Given the description of an element on the screen output the (x, y) to click on. 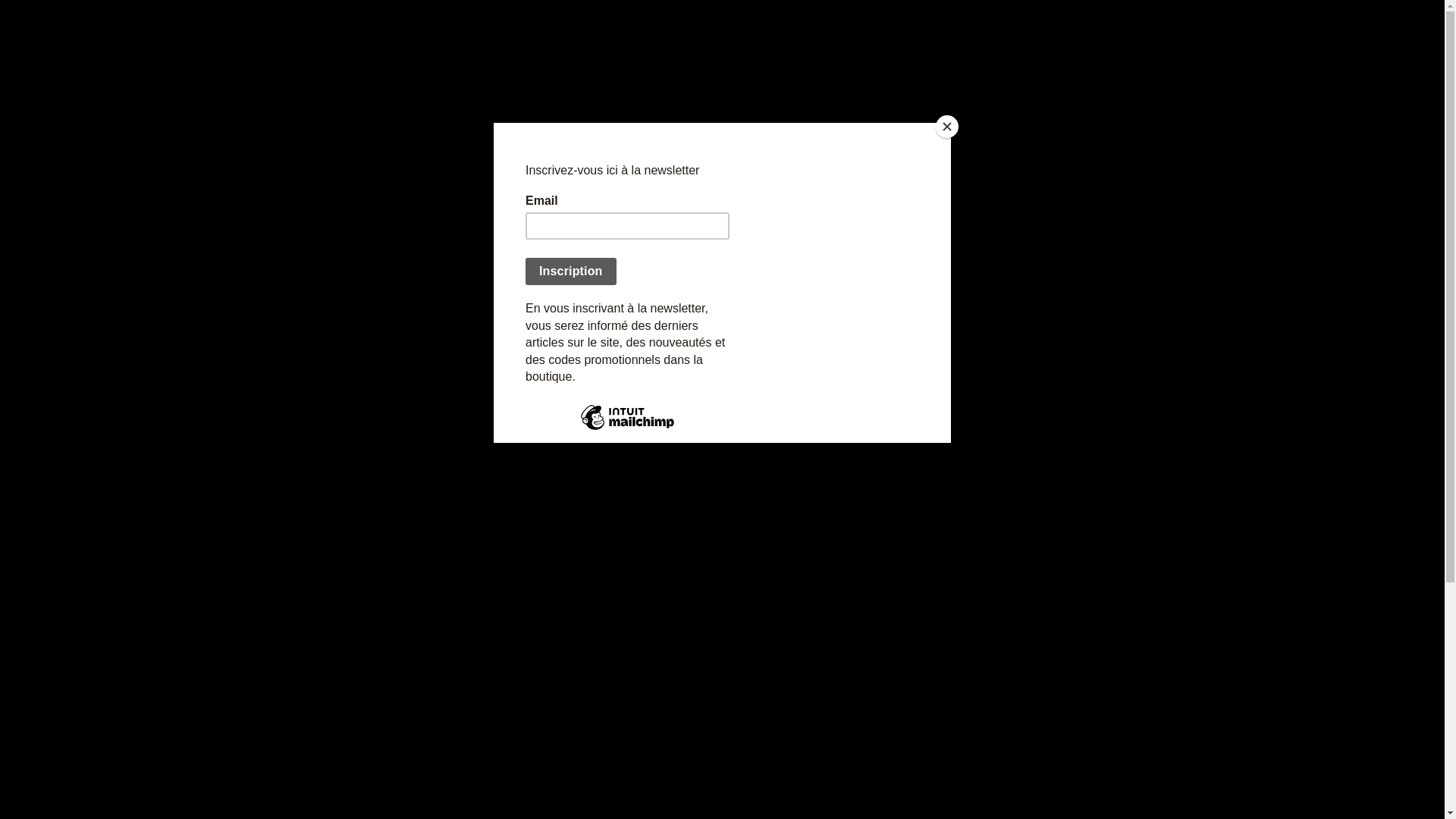
Recherche : Element type: hover (538, 497)
DIY Element type: text (769, 800)
ACCUEIL Element type: text (343, 26)
ACCUEIL Element type: text (619, 569)
ME TROUVER Element type: text (541, 26)
ATELIERS DO IT YOURSELF Element type: text (770, 26)
LES ATELIERS Element type: text (639, 653)
Instagram Element type: text (984, 641)
ATELIERS DO IT YOURSELF Element type: text (667, 601)
ATELIER DIY Element type: text (715, 776)
Facebook Element type: text (984, 508)
Portefeuille Element type: text (348, 599)
ART Element type: text (610, 776)
ATELIER Element type: text (653, 776)
COURS Element type: text (731, 800)
NEWSLETTER Element type: text (632, 26)
RECHERCHE Element type: text (802, 497)
Recherche Element type: text (1114, 25)
